Given the description of an element on the screen output the (x, y) to click on. 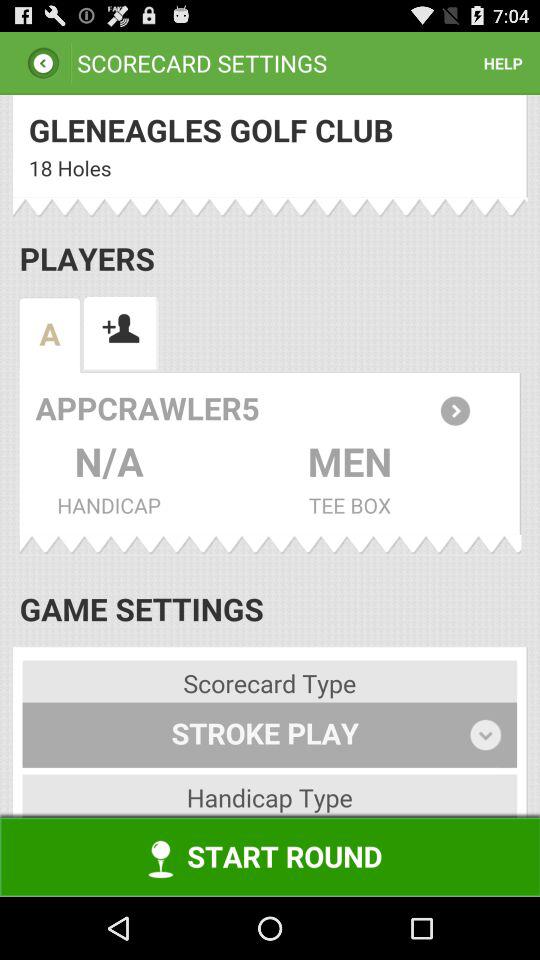
view scorecard settings (270, 495)
